Given the description of an element on the screen output the (x, y) to click on. 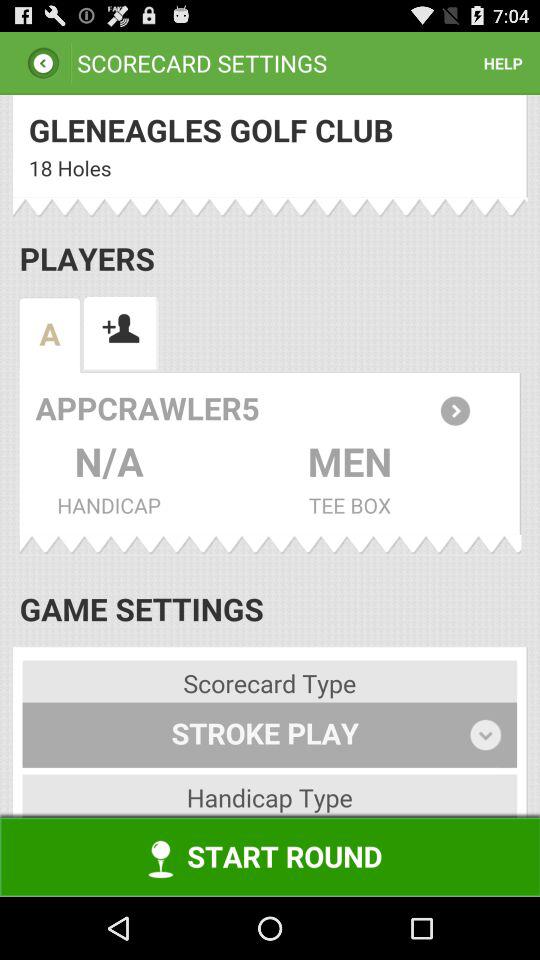
view scorecard settings (270, 495)
